Given the description of an element on the screen output the (x, y) to click on. 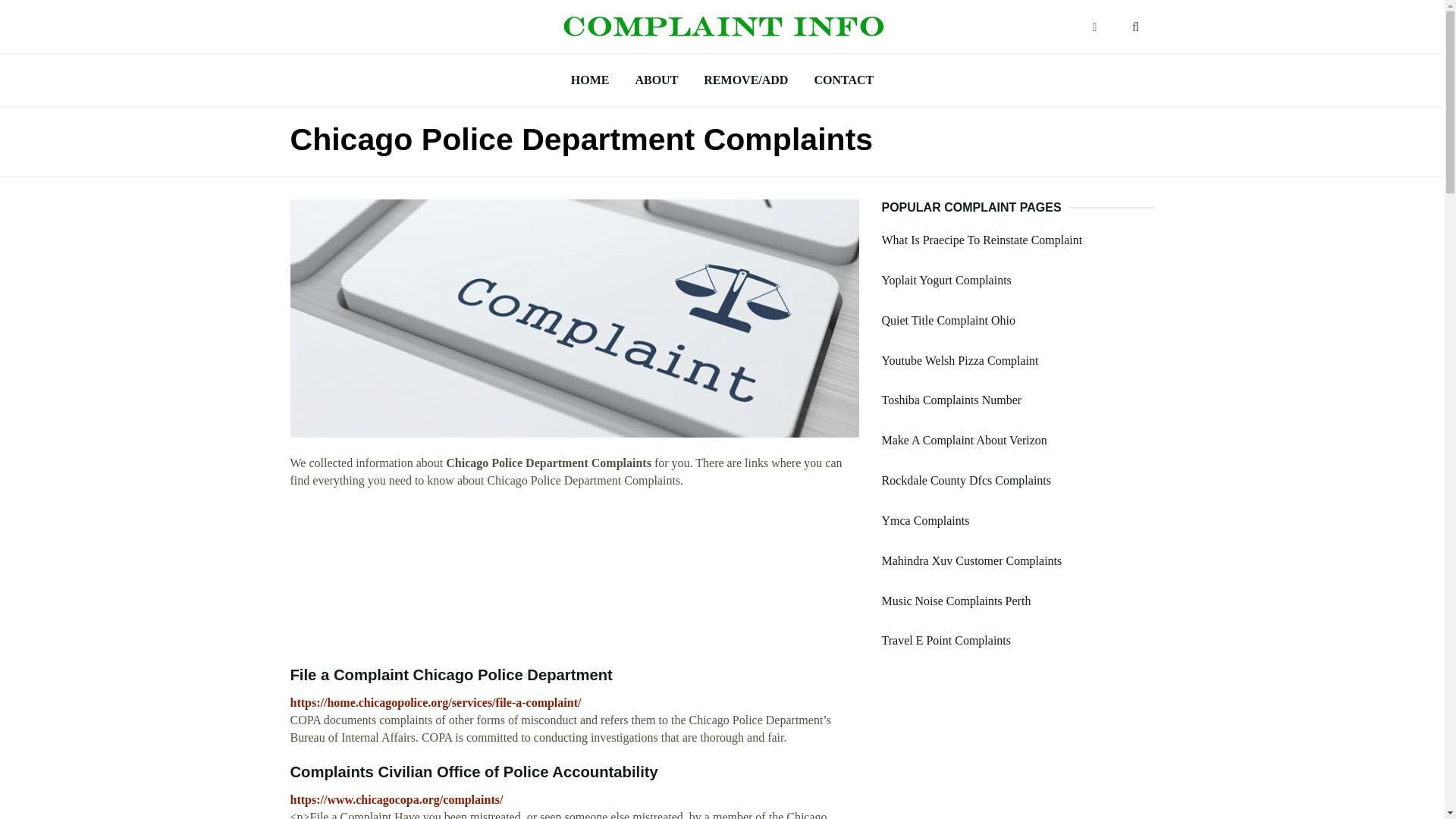
ABOUT (655, 80)
CONTACT (843, 80)
Complaints Civilian Office of Police Accountability (473, 771)
Advertisement (574, 577)
HOME (590, 80)
File a Complaint Chicago Police Department (450, 674)
Advertisement (1017, 745)
